Given the description of an element on the screen output the (x, y) to click on. 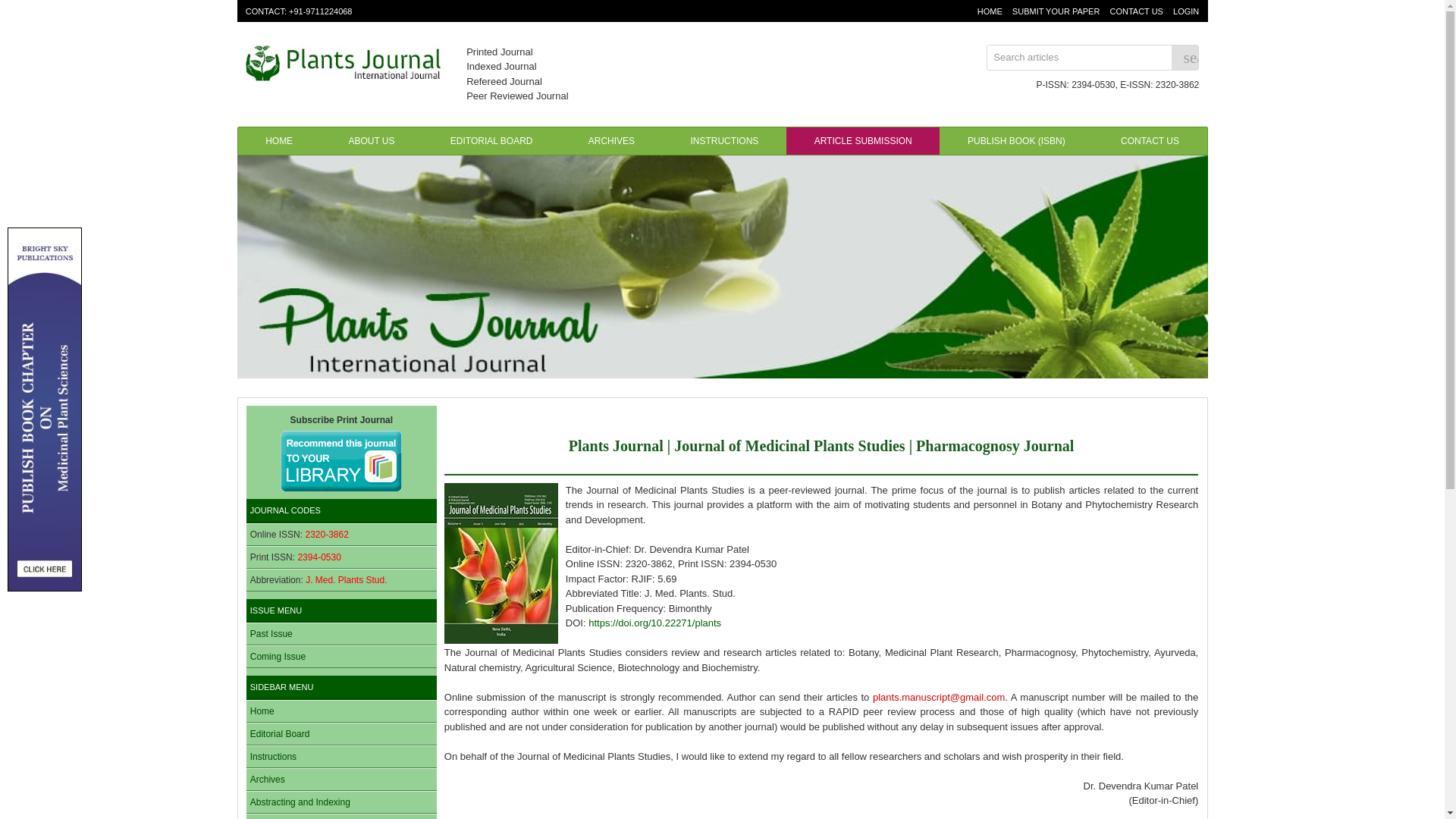
ARCHIVES (611, 140)
CONTACT US (1136, 11)
search (1185, 57)
CONTACT US (1150, 140)
ABOUT US (371, 140)
Instructions (273, 756)
Home (262, 710)
Editorial Board (280, 733)
HOME (989, 11)
EDITORIAL BOARD (491, 140)
Coming Issue (277, 656)
Past Issue (271, 633)
Subscribe Print Journal (341, 451)
SUBMIT YOUR PAPER (1055, 11)
HOME (279, 140)
